Given the description of an element on the screen output the (x, y) to click on. 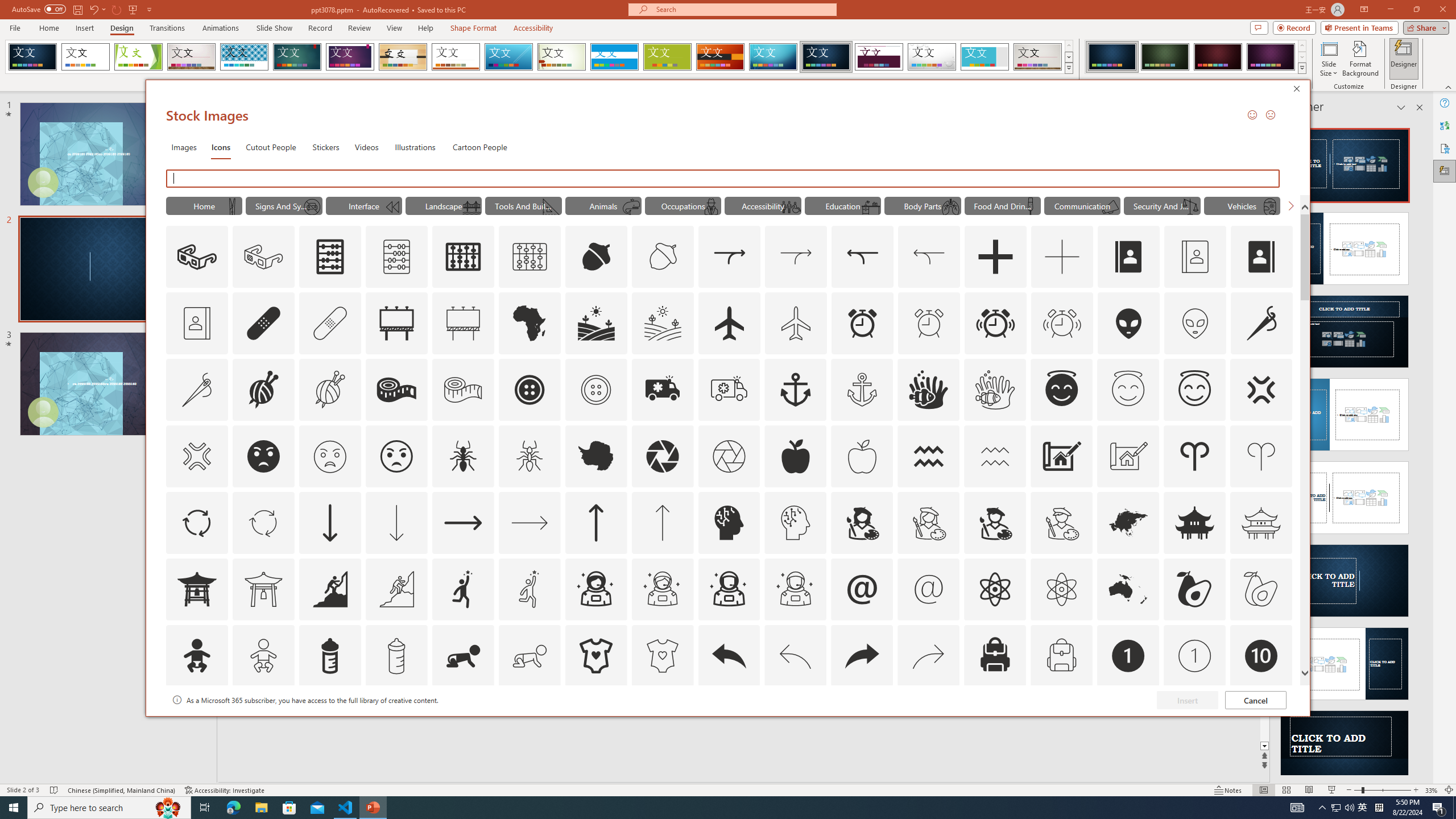
AutomationID: Icons_Badge5_M (729, 721)
Themes (1068, 67)
AutomationID: Icons_AlterationsTailoring1 (263, 389)
AutomationID: Icons_Badge8_M (1128, 721)
AutomationID: Icons_AlterationsTailoring2 (395, 389)
AutomationID: Icons_Aperture_M (729, 455)
AutomationID: Icons_Aspiration1 (462, 588)
AutomationID: Icons_Architecture (1061, 455)
AutomationID: Icons_Badge3_M (462, 721)
